Given the description of an element on the screen output the (x, y) to click on. 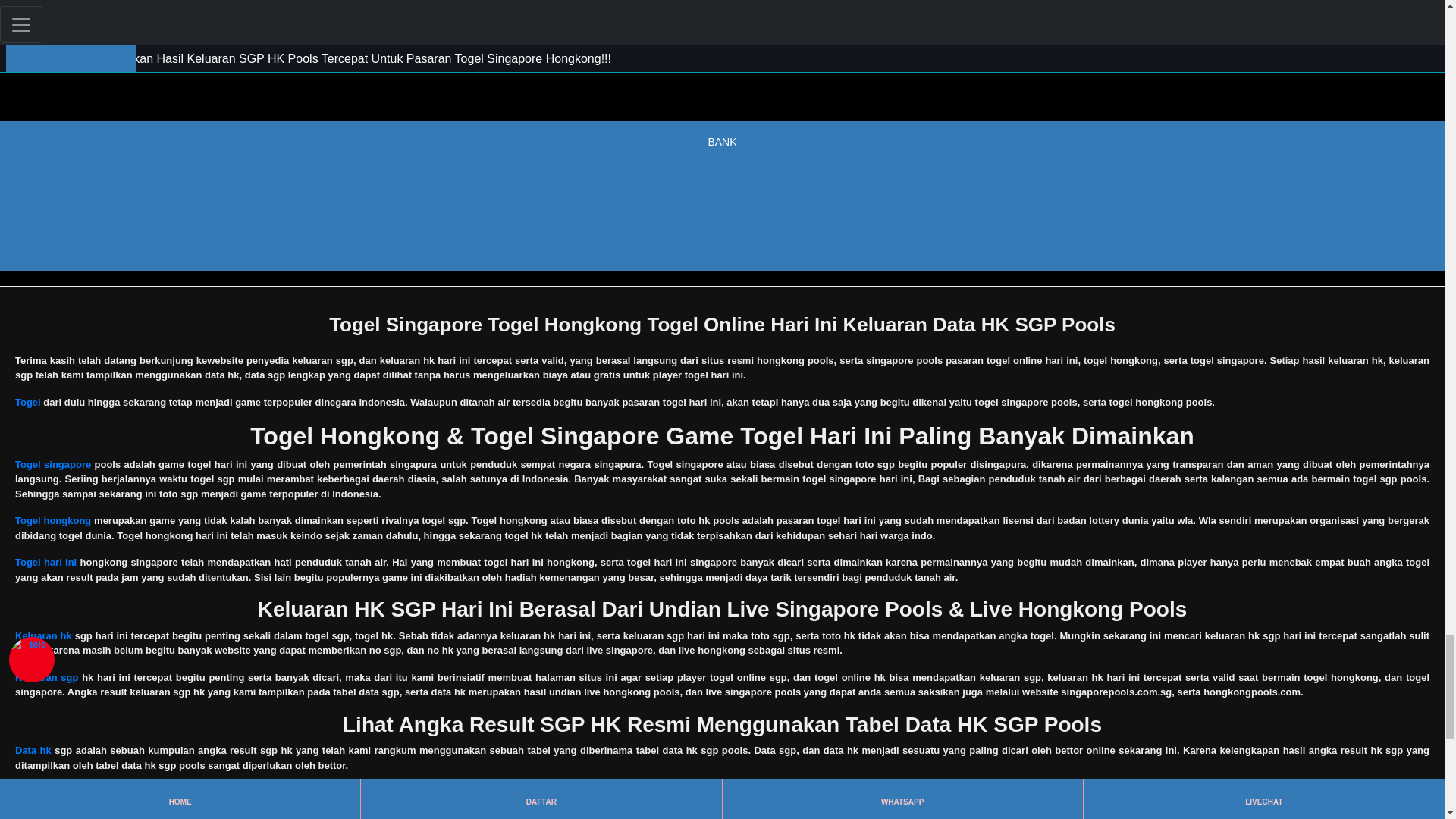
Togel hari ini (45, 562)
Data hk (32, 749)
Keluaran hk (42, 635)
Togel hongkong (52, 520)
Keluaran sgp (46, 677)
Togel singapore (52, 464)
Data sgp (35, 791)
Togel (27, 401)
